Given the description of an element on the screen output the (x, y) to click on. 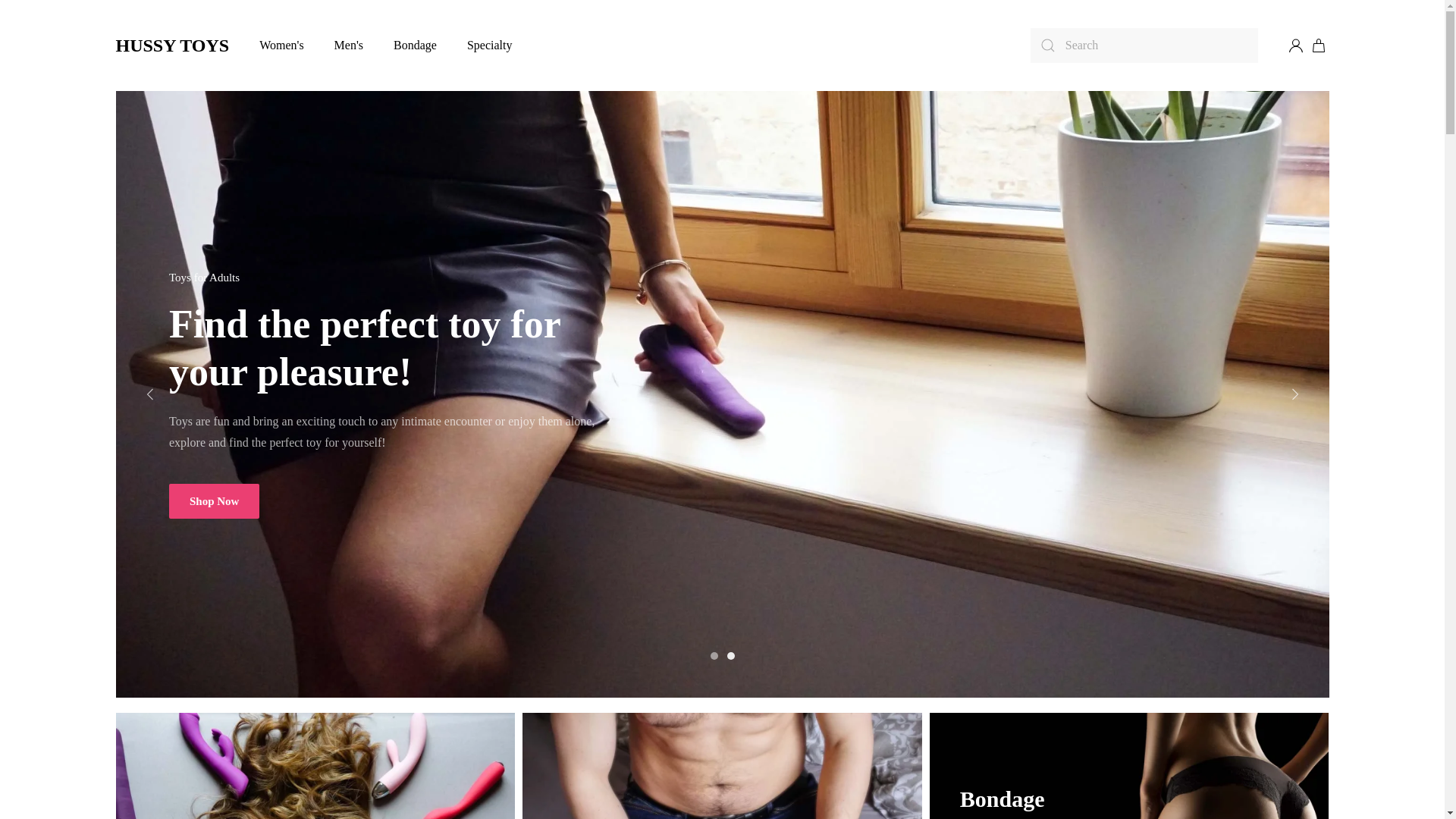
HUSSY TOYS (171, 45)
